Given the description of an element on the screen output the (x, y) to click on. 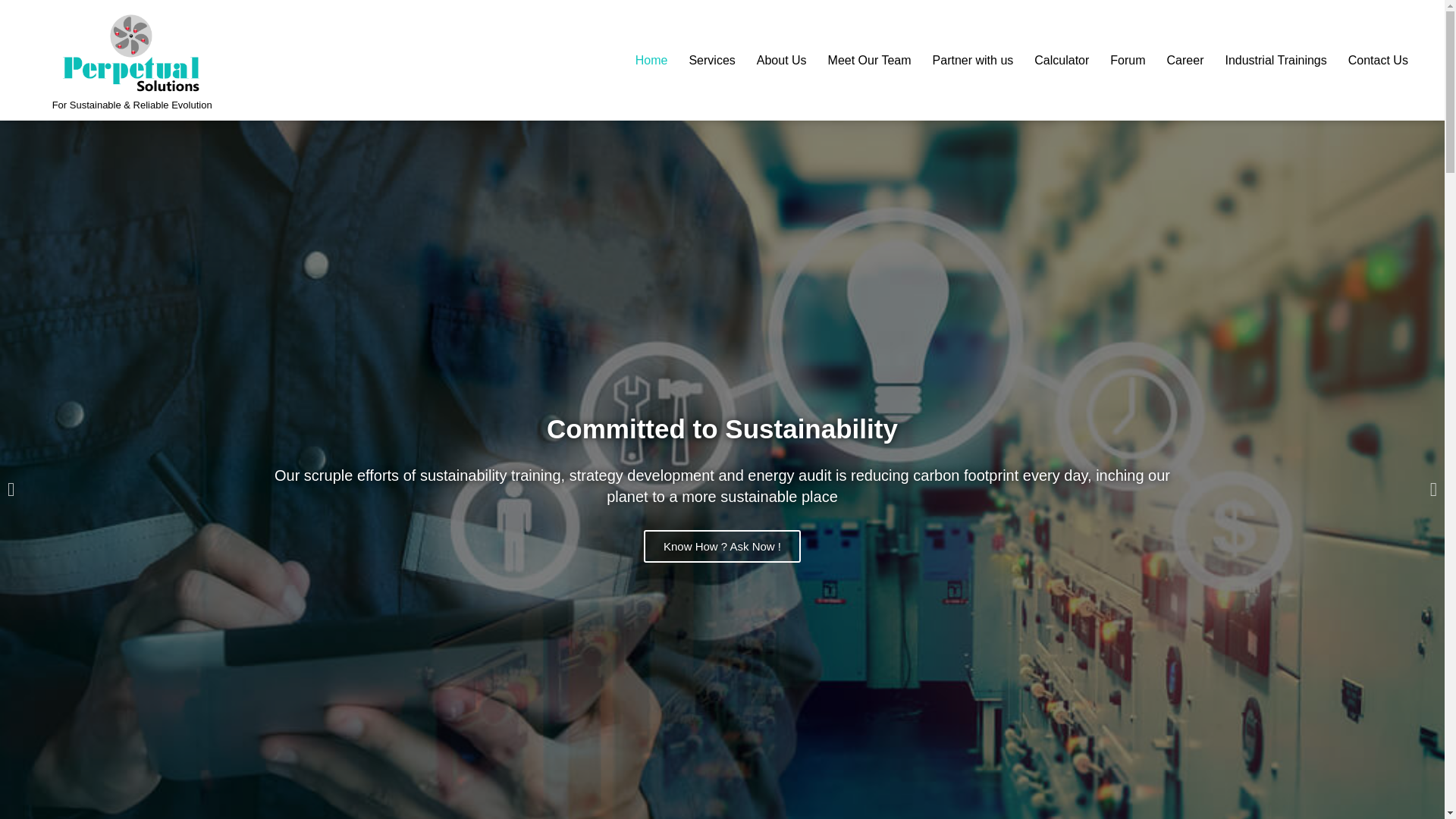
Know How ? Ask Now ! (721, 545)
Calculator (1051, 60)
Home (641, 60)
Partner with us (962, 60)
Industrial Trainings (1265, 60)
About Us (770, 60)
Services (700, 60)
Career (1174, 60)
Contact Us (1366, 60)
Forum (1116, 60)
